Given the description of an element on the screen output the (x, y) to click on. 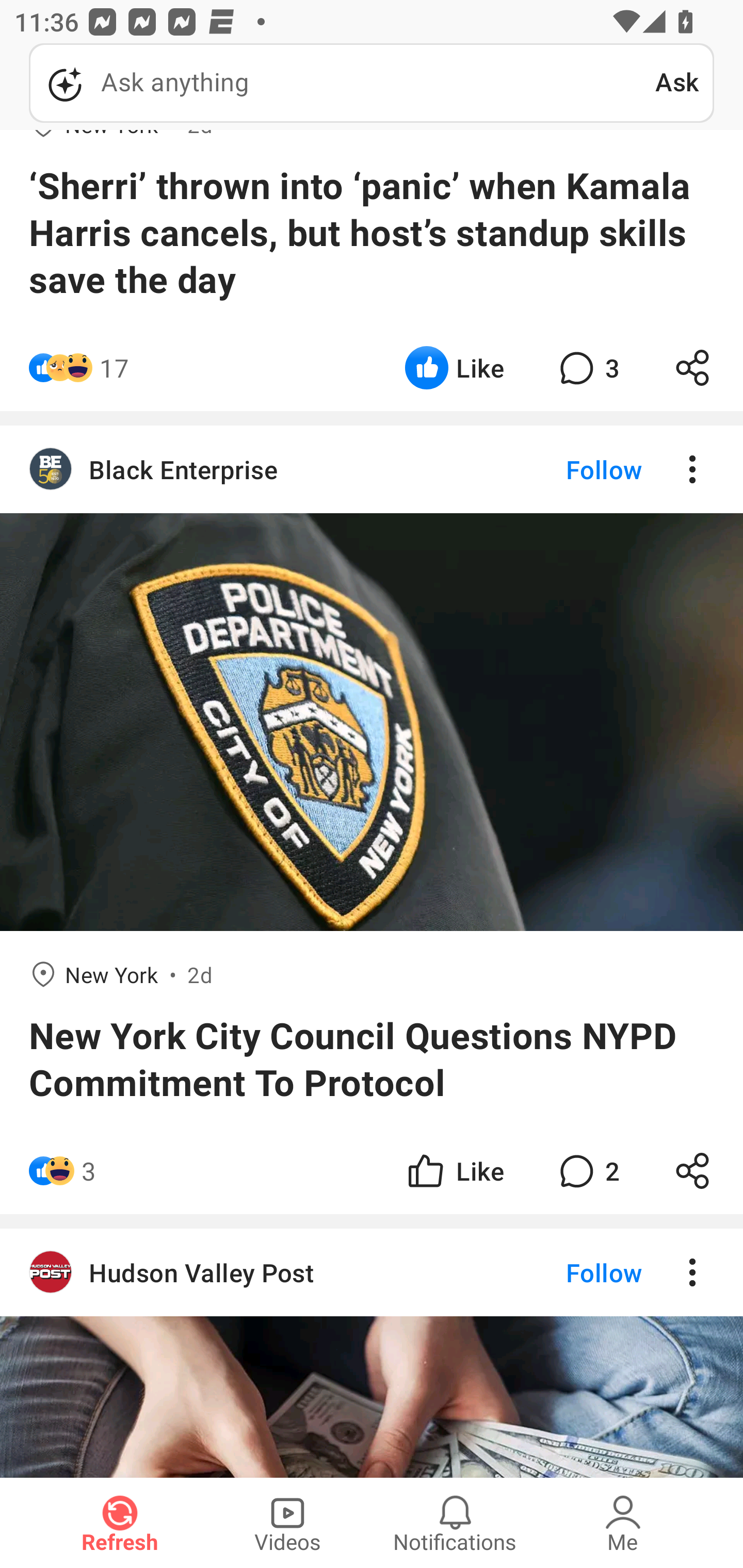
Ask anything (341, 82)
17 (114, 367)
Like (454, 367)
3 (587, 367)
Black Enterprise Follow (371, 468)
Follow (569, 468)
3 (88, 1170)
Like (454, 1170)
2 (587, 1170)
Hudson Valley Post Follow (371, 1272)
Follow (569, 1272)
Videos (287, 1522)
Notifications (455, 1522)
Me (622, 1522)
